Given the description of an element on the screen output the (x, y) to click on. 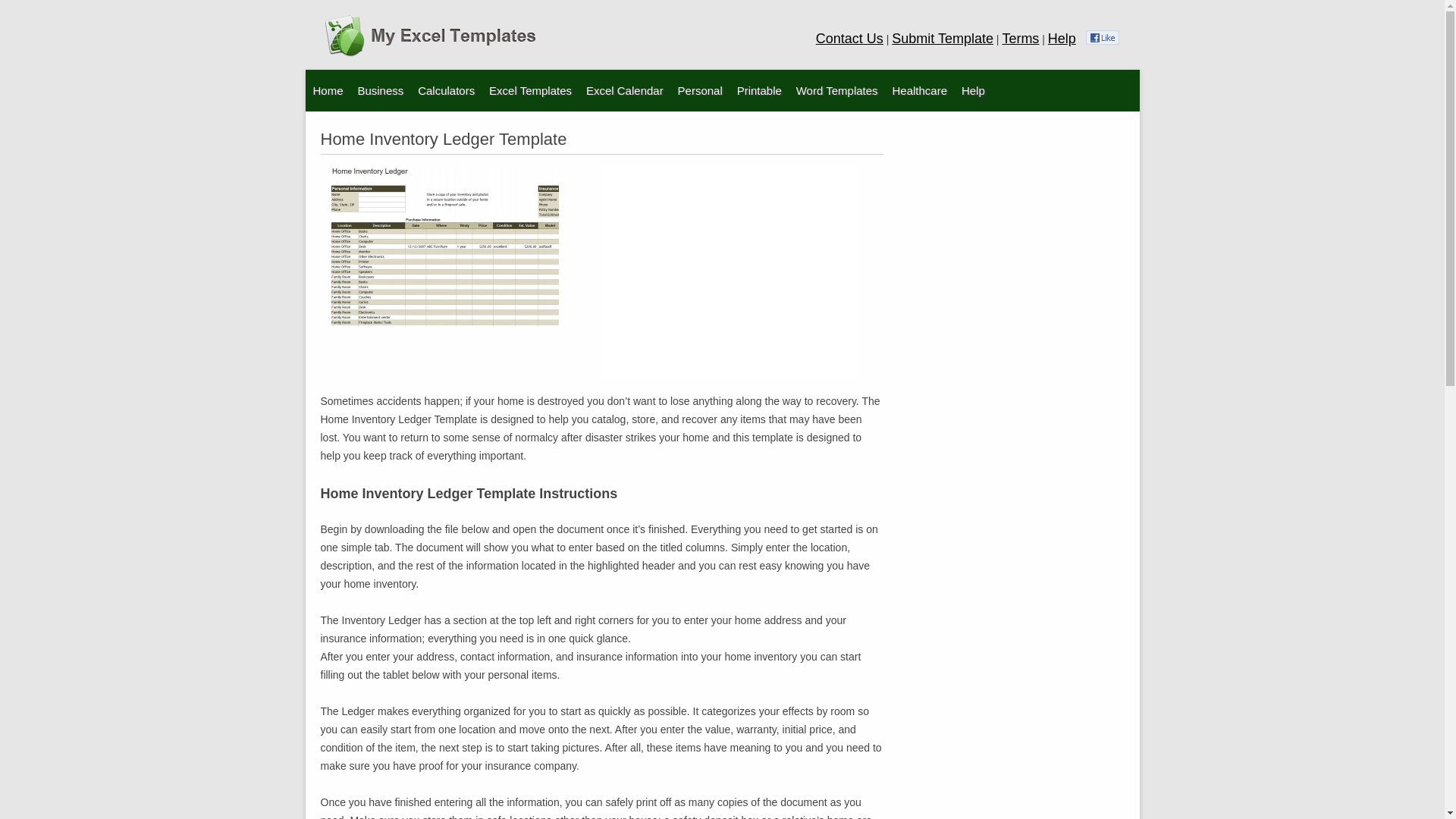
Excel Calendar (624, 90)
Advertisement (728, 273)
Contact Us (849, 37)
Business (379, 90)
Submit Template (941, 37)
Compatible Avery Templates (753, 126)
Help (1061, 37)
Calculators (445, 90)
Excel Templates (530, 90)
Terms (1020, 37)
